Given the description of an element on the screen output the (x, y) to click on. 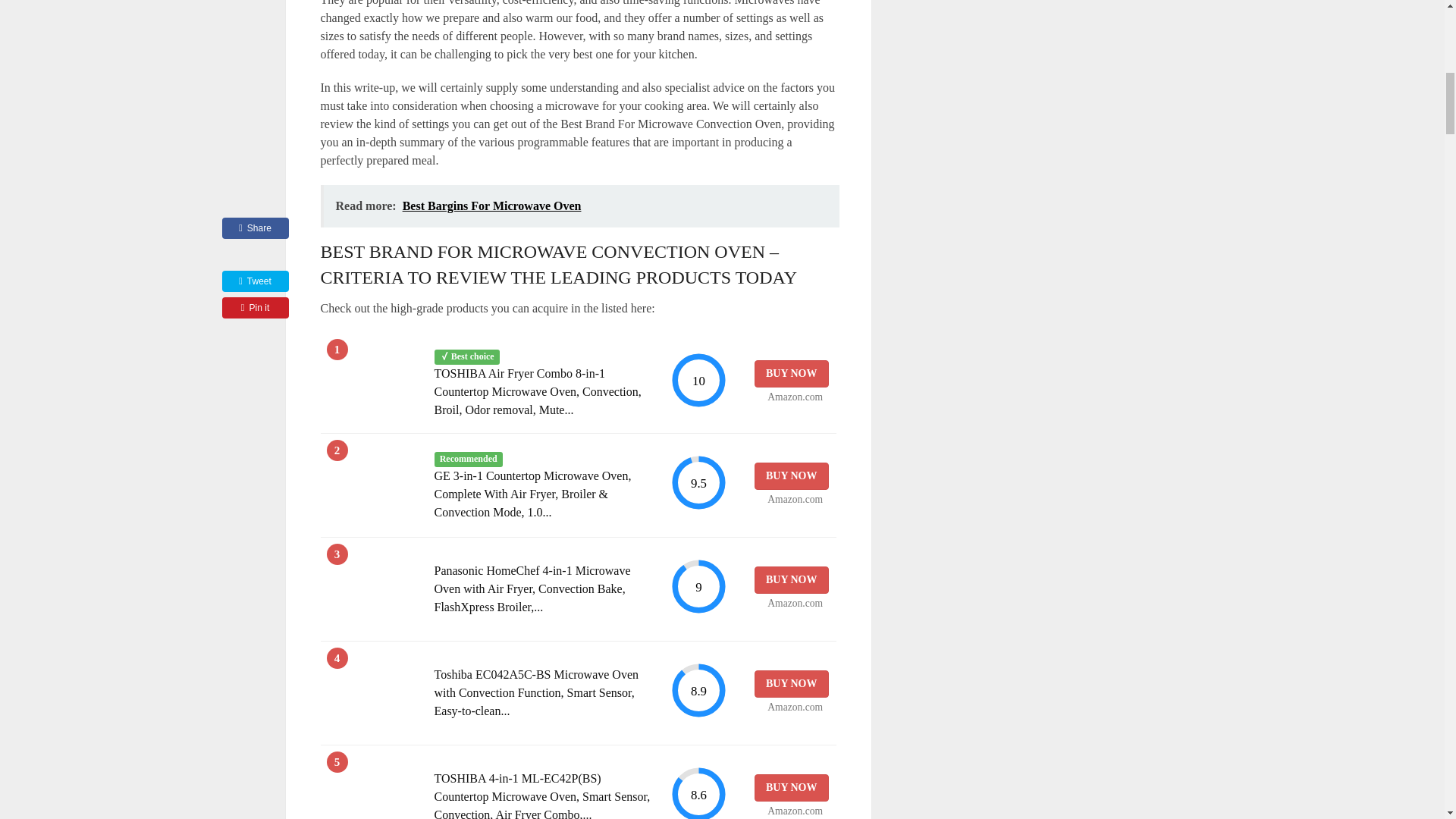
9.5 (697, 482)
10 (697, 380)
8.9 (697, 690)
8.6 (697, 792)
9 (697, 586)
